Given the description of an element on the screen output the (x, y) to click on. 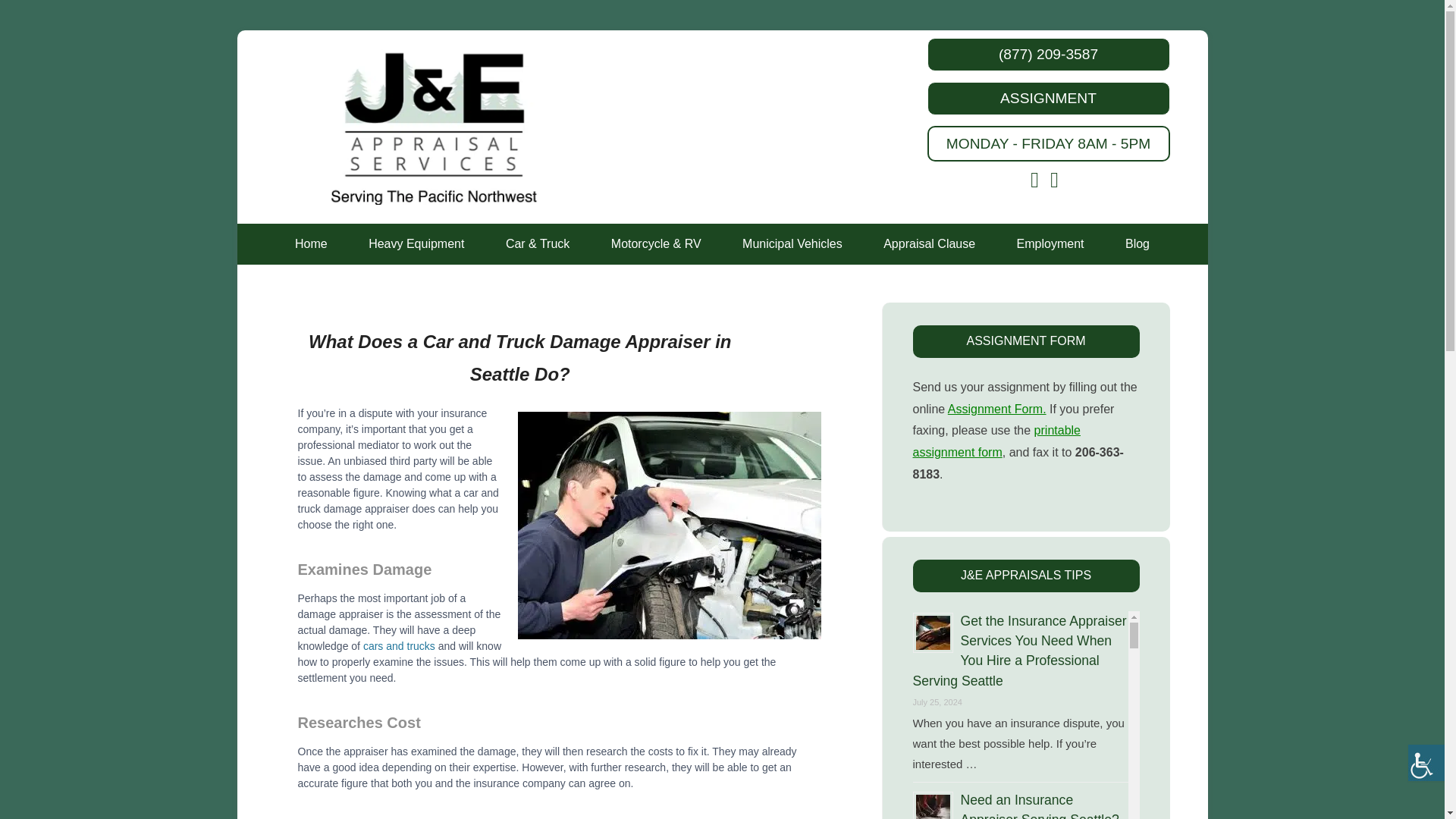
Home (311, 243)
Heavy Equipment (416, 243)
